Given the description of an element on the screen output the (x, y) to click on. 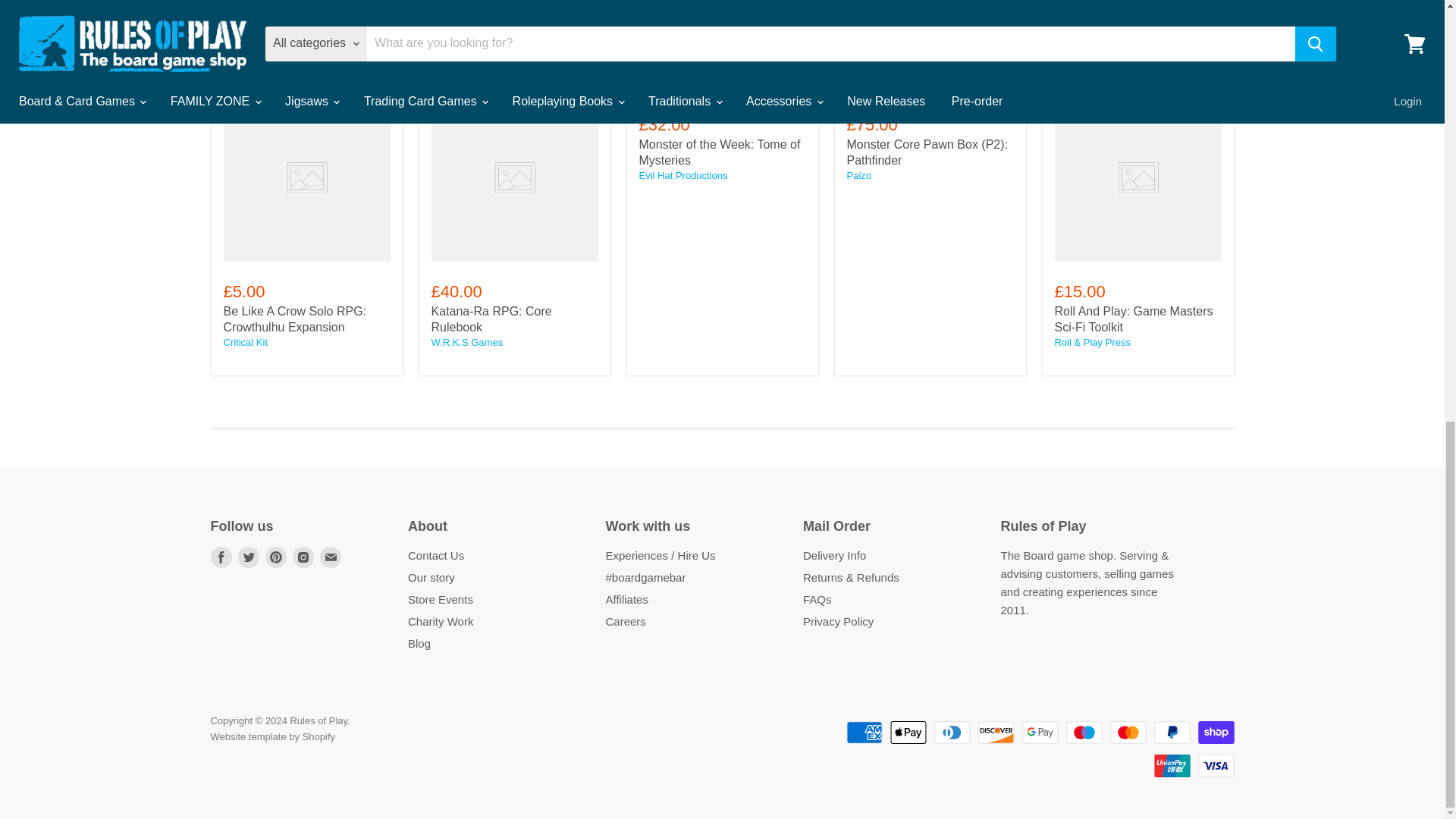
Critical Kit (244, 342)
Paizo (857, 174)
W.R.K.S Games (466, 342)
Facebook (221, 557)
Twitter (248, 557)
Evil Hat Productions (682, 174)
Pinterest (275, 557)
Instagram (303, 557)
Email (330, 557)
